Given the description of an element on the screen output the (x, y) to click on. 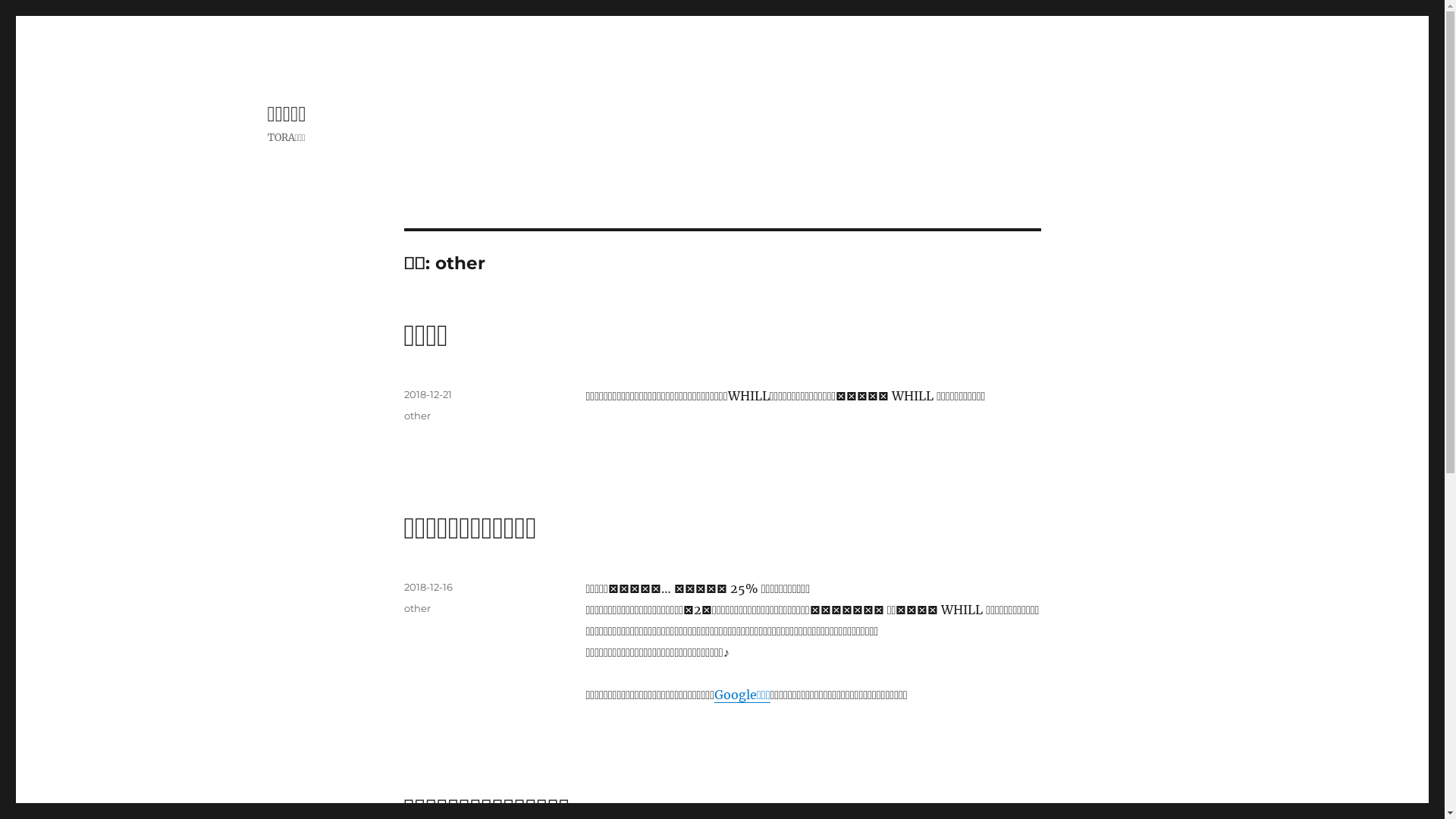
other Element type: text (416, 415)
2018-12-21 Element type: text (427, 394)
2018-12-16 Element type: text (427, 586)
other Element type: text (416, 608)
